Given the description of an element on the screen output the (x, y) to click on. 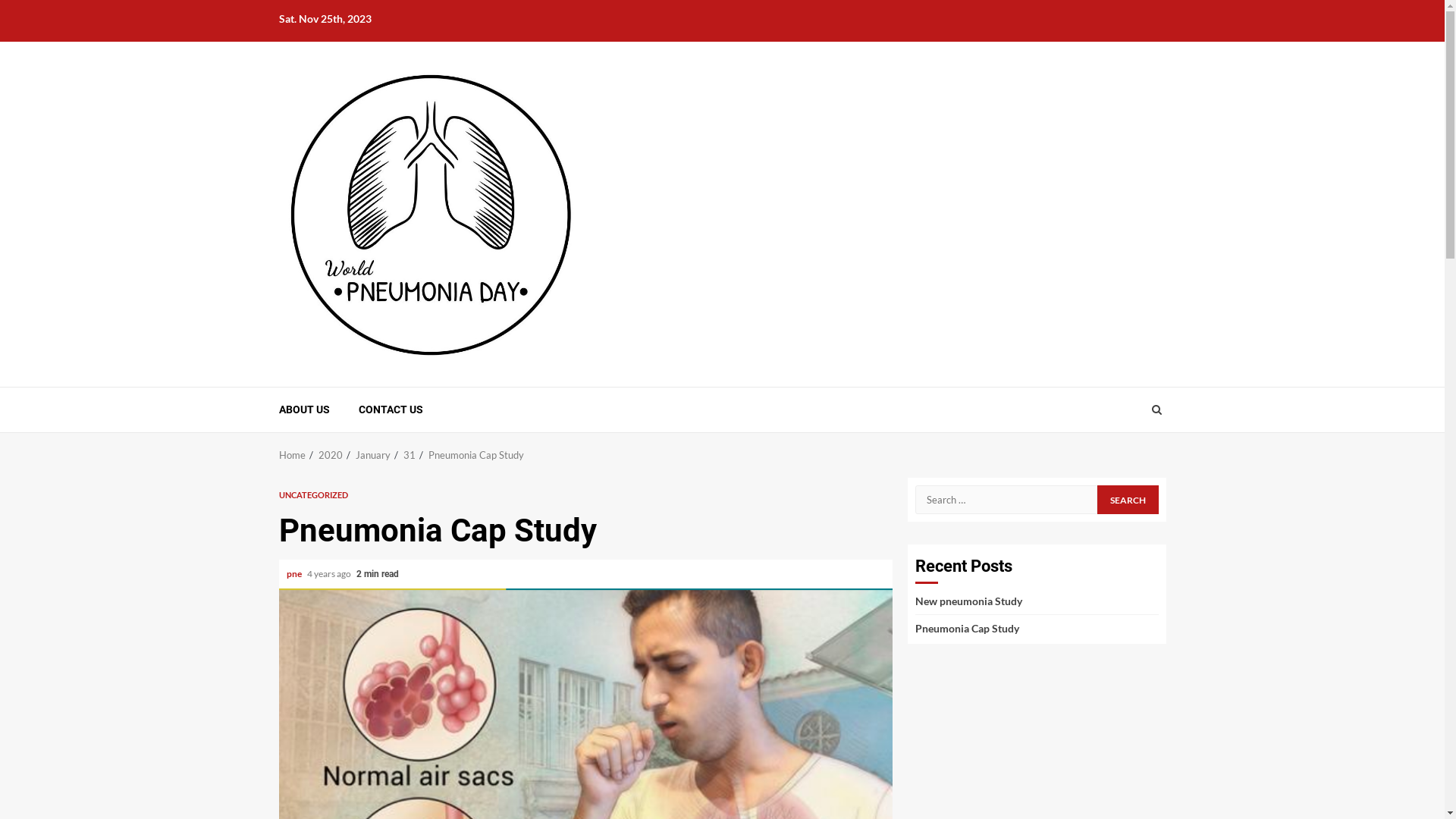
ABOUT US Element type: text (304, 409)
Home Element type: text (292, 454)
CONTACT US Element type: text (389, 409)
UNCATEGORIZED Element type: text (313, 494)
pne Element type: text (294, 573)
Search Element type: hover (1155, 409)
Search Element type: text (1126, 455)
New pneumonia Study Element type: text (967, 600)
Search Element type: text (1127, 499)
Pneumonia Cap Study Element type: text (475, 454)
Pneumonia Cap Study Element type: text (966, 627)
January Element type: text (371, 454)
2020 Element type: text (330, 454)
31 Element type: text (409, 454)
